Given the description of an element on the screen output the (x, y) to click on. 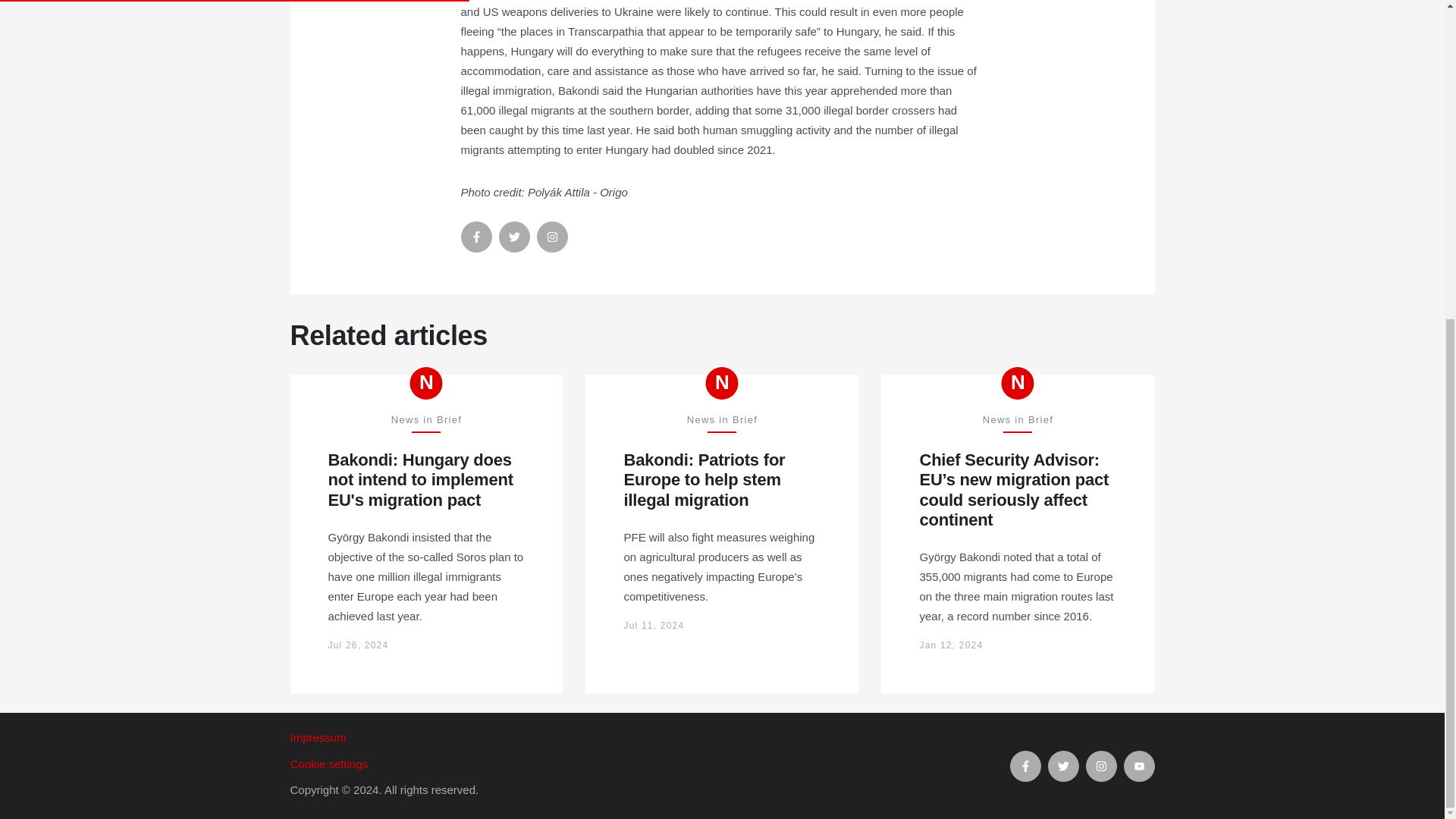
Twitter- icon (514, 236)
Impressum (649, 737)
Facebook icon (1025, 766)
News in Brief (1017, 382)
News in Brief (722, 382)
News in Brief (426, 382)
Instagram icon (552, 236)
N (426, 382)
Bakondi: Patriots for Europe to help stem illegal migration (722, 480)
Facebook icon (476, 236)
N (722, 382)
N (1017, 382)
Bakondi: Patriots for Europe to help stem illegal migration (722, 480)
Cookie settings (649, 764)
